Given the description of an element on the screen output the (x, y) to click on. 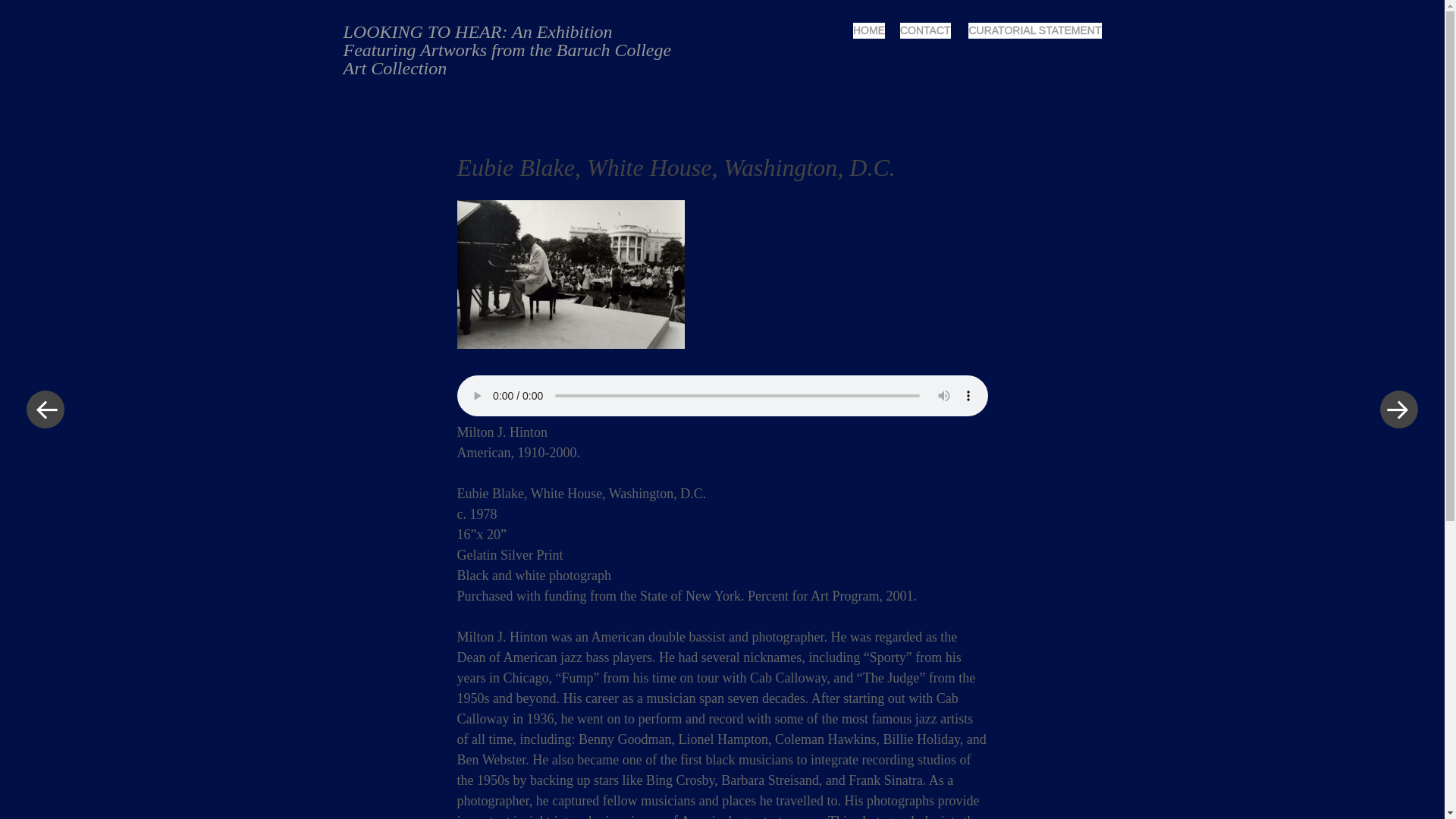
CURATORIAL STATEMENT (1034, 30)
HOME (869, 30)
CONTACT (924, 30)
